Given the description of an element on the screen output the (x, y) to click on. 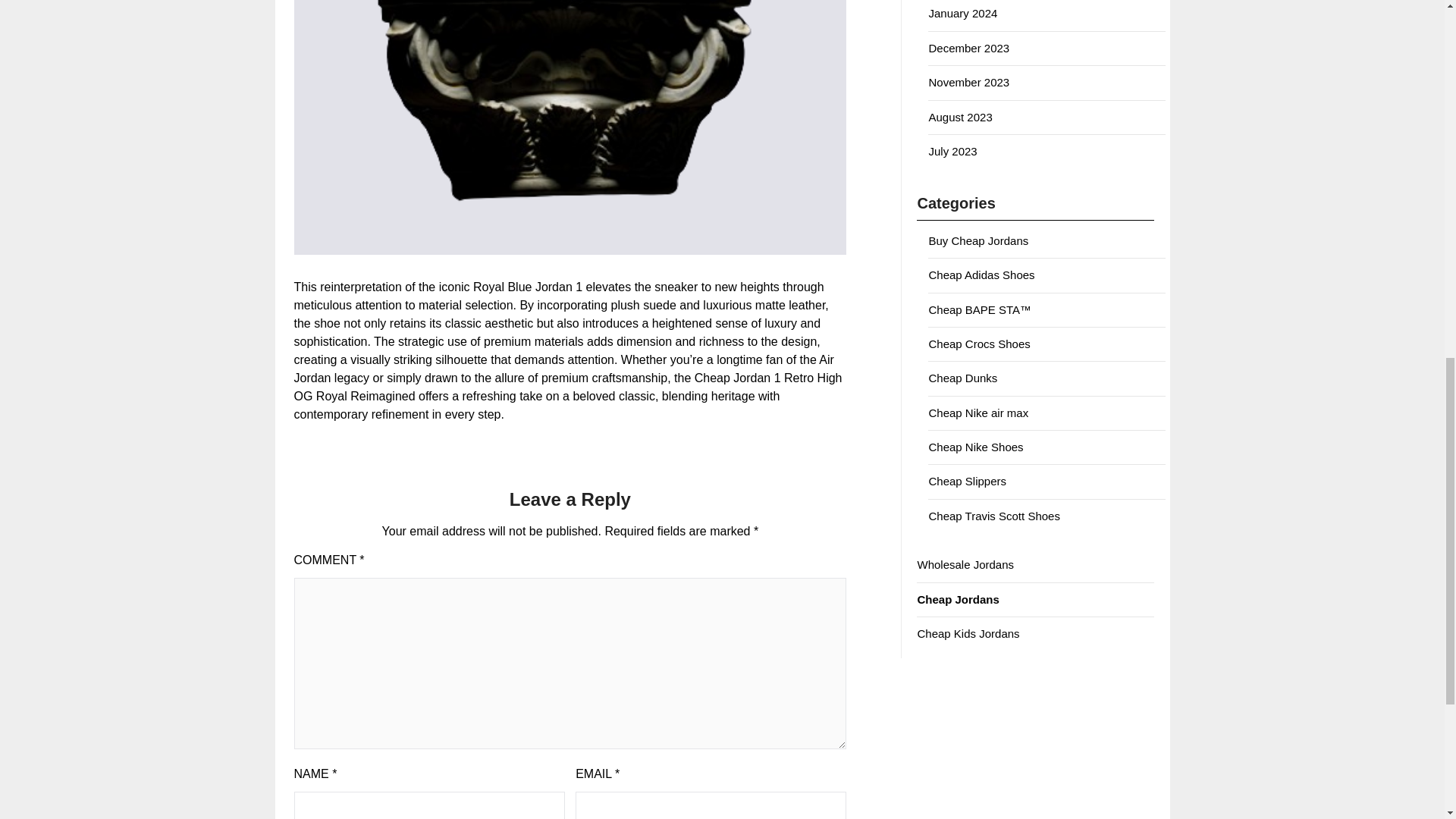
Cheap Jordans (957, 599)
Cheap Dunks (962, 377)
Cheap Nike air max (977, 412)
Cheap Crocs Shoes (978, 343)
Cheap Nike Shoes (975, 446)
July 2023 (952, 151)
January 2024 (962, 12)
Cheap Travis Scott Shoes (993, 515)
Cheap Slippers (967, 481)
Buy Cheap Jordans (977, 240)
